Given the description of an element on the screen output the (x, y) to click on. 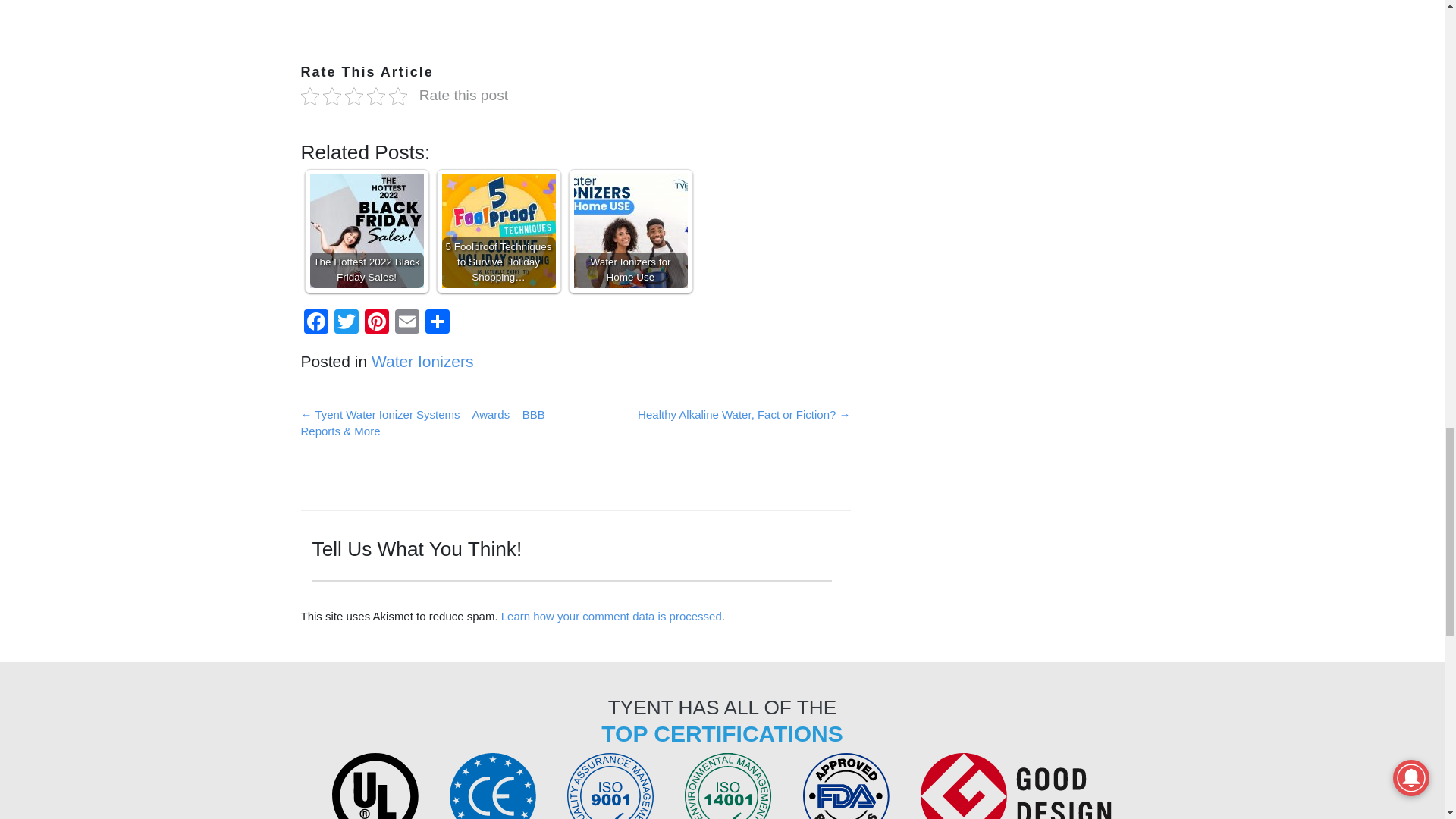
Twitter (345, 323)
The Hottest 2022 Black Friday Sales! (365, 231)
Water Ionizers for Home Use (630, 231)
Facebook (314, 323)
Pinterest (376, 323)
